Given the description of an element on the screen output the (x, y) to click on. 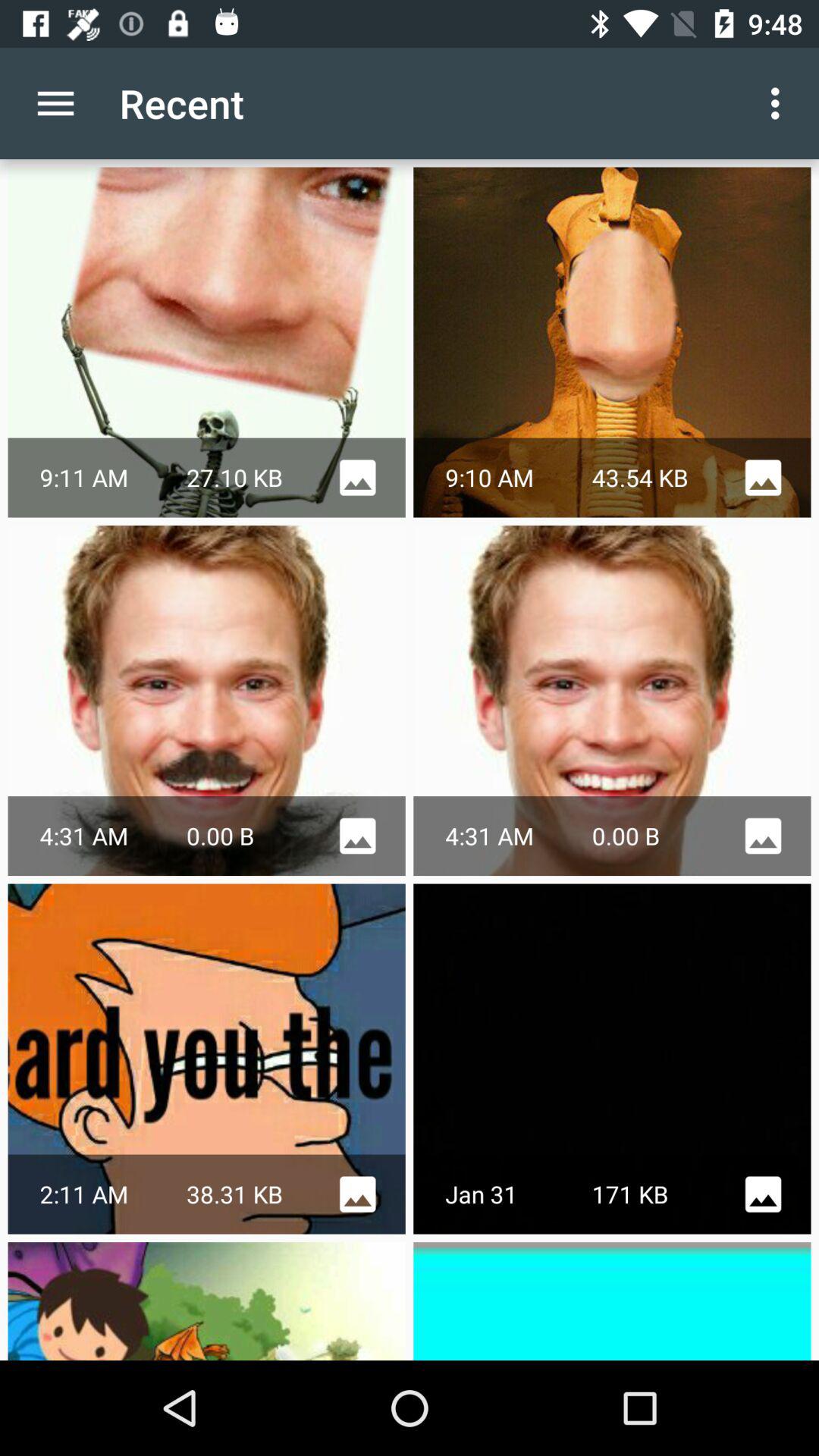
select the icon next to recent item (55, 103)
